Given the description of an element on the screen output the (x, y) to click on. 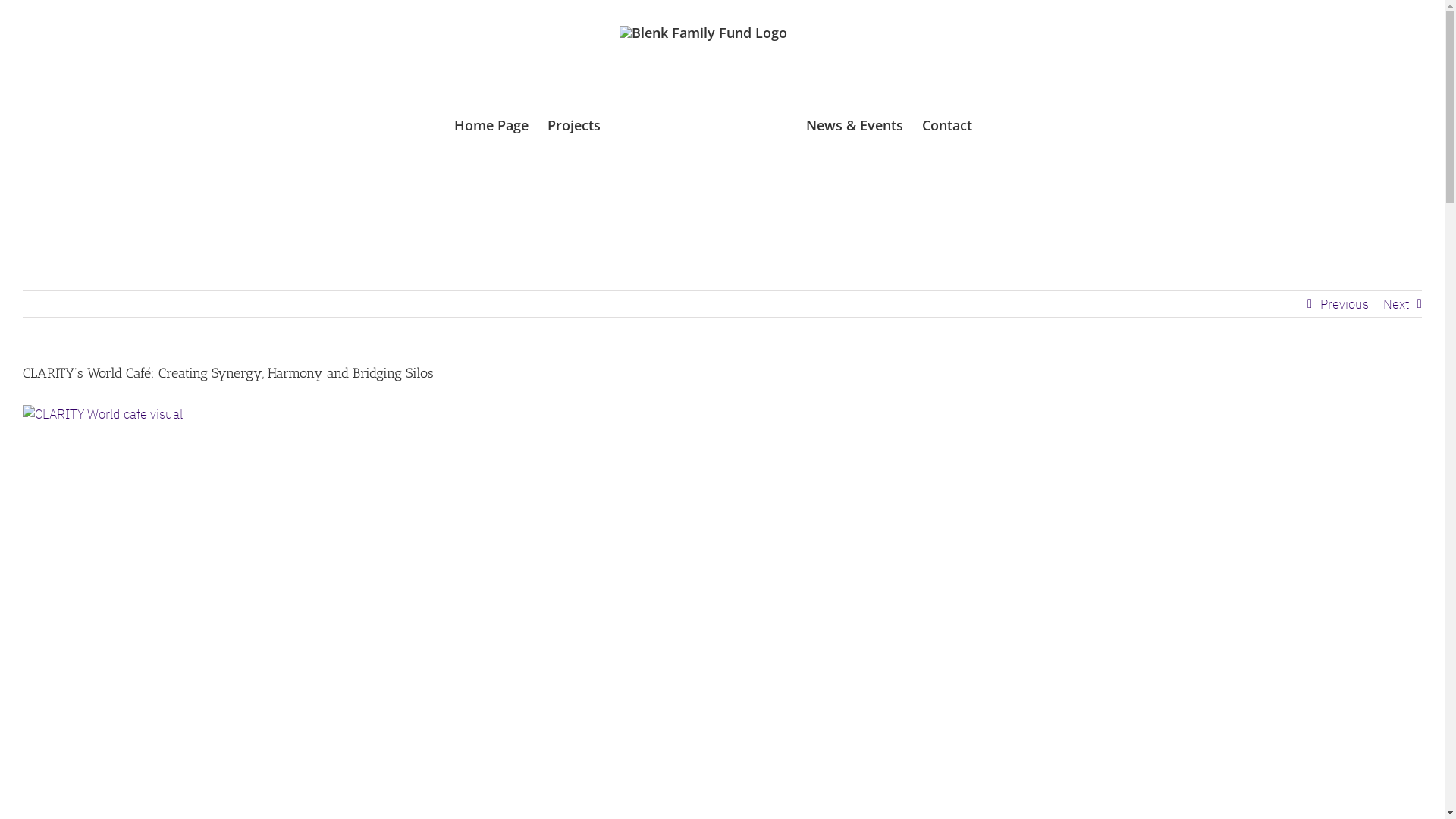
Projects Element type: text (573, 124)
Home Page Element type: text (490, 124)
News & Events Element type: text (853, 124)
Next Element type: text (1395, 303)
Contact Element type: text (947, 124)
Previous Element type: text (1344, 303)
